Given the description of an element on the screen output the (x, y) to click on. 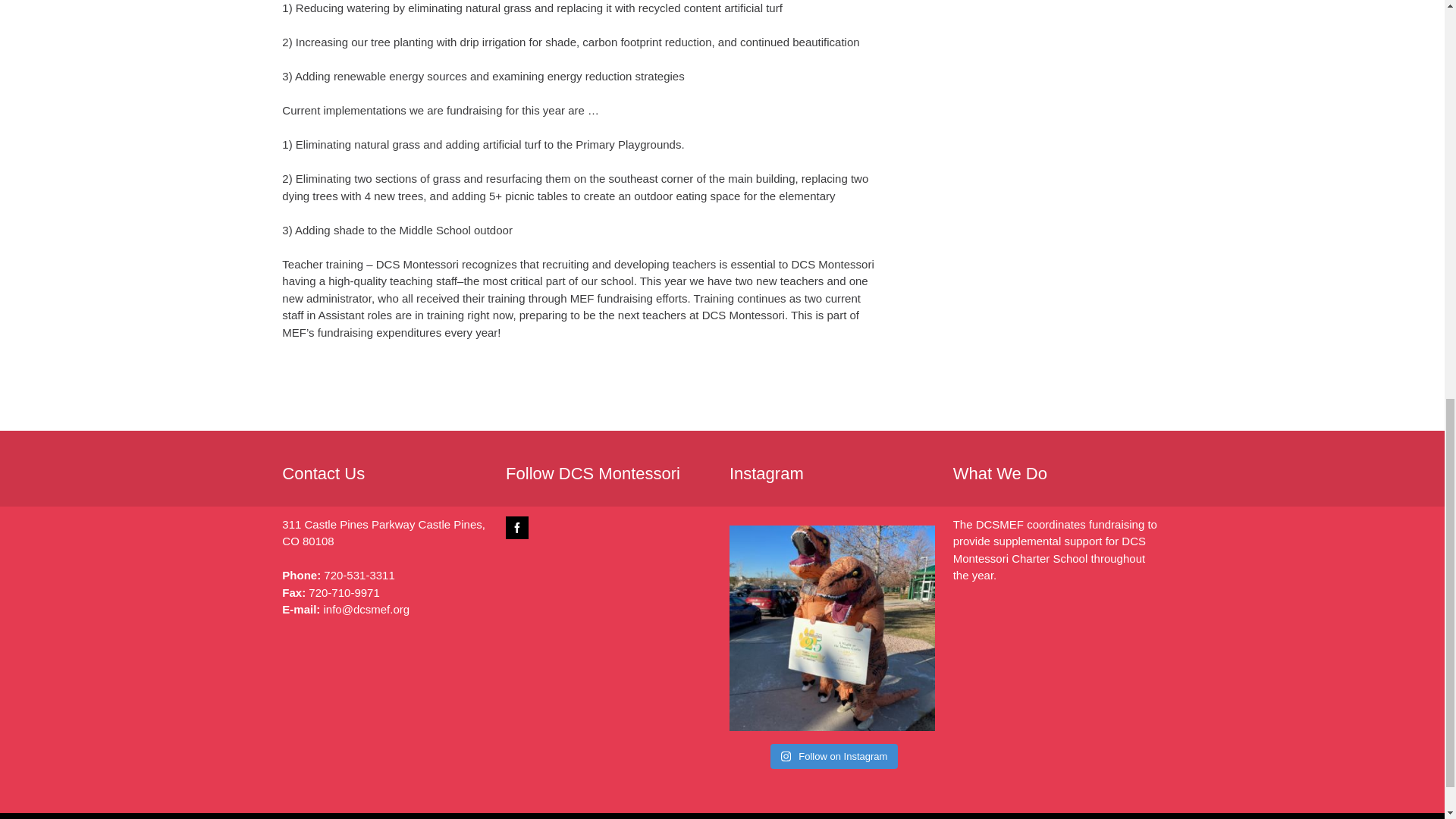
Follow on Instagram (834, 756)
Facebook (516, 526)
